Given the description of an element on the screen output the (x, y) to click on. 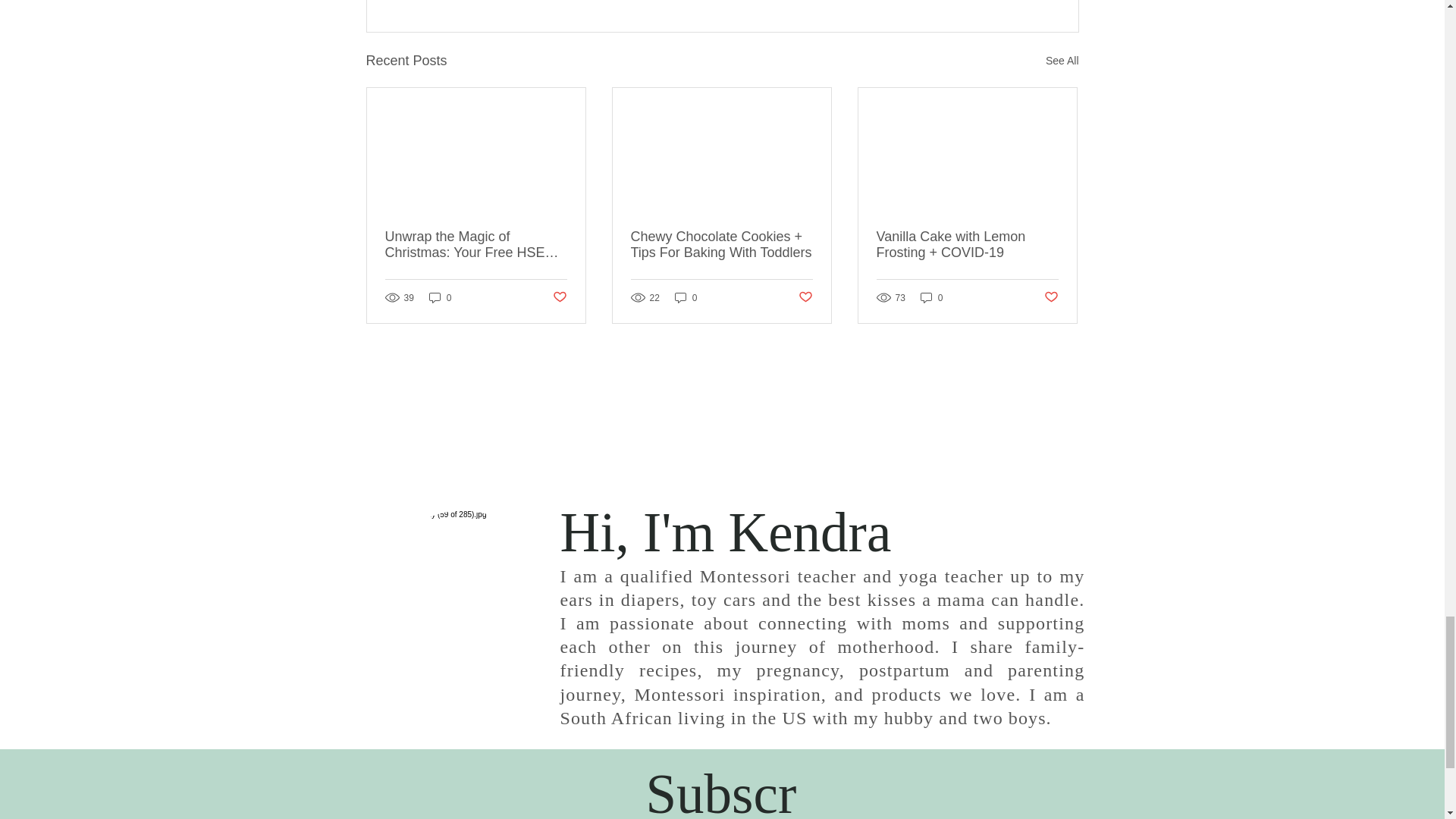
guy2.jpg (462, 592)
